Given the description of an element on the screen output the (x, y) to click on. 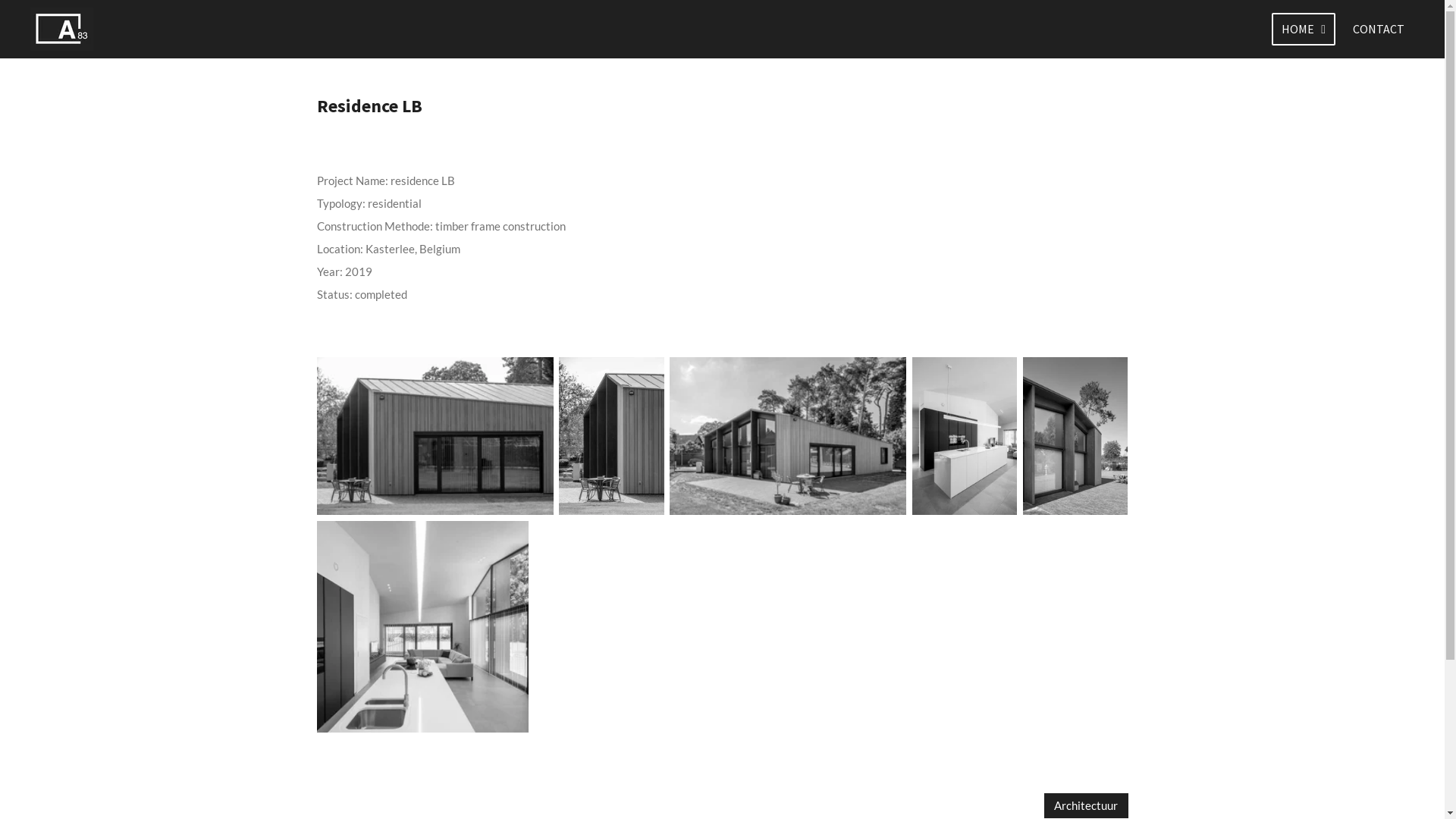
HOME Element type: text (1303, 28)
Architectuur Element type: text (1085, 805)
Atelier83 architecten en ingenieurs Element type: hover (61, 28)
CONTACT Element type: text (1378, 28)
